Given the description of an element on the screen output the (x, y) to click on. 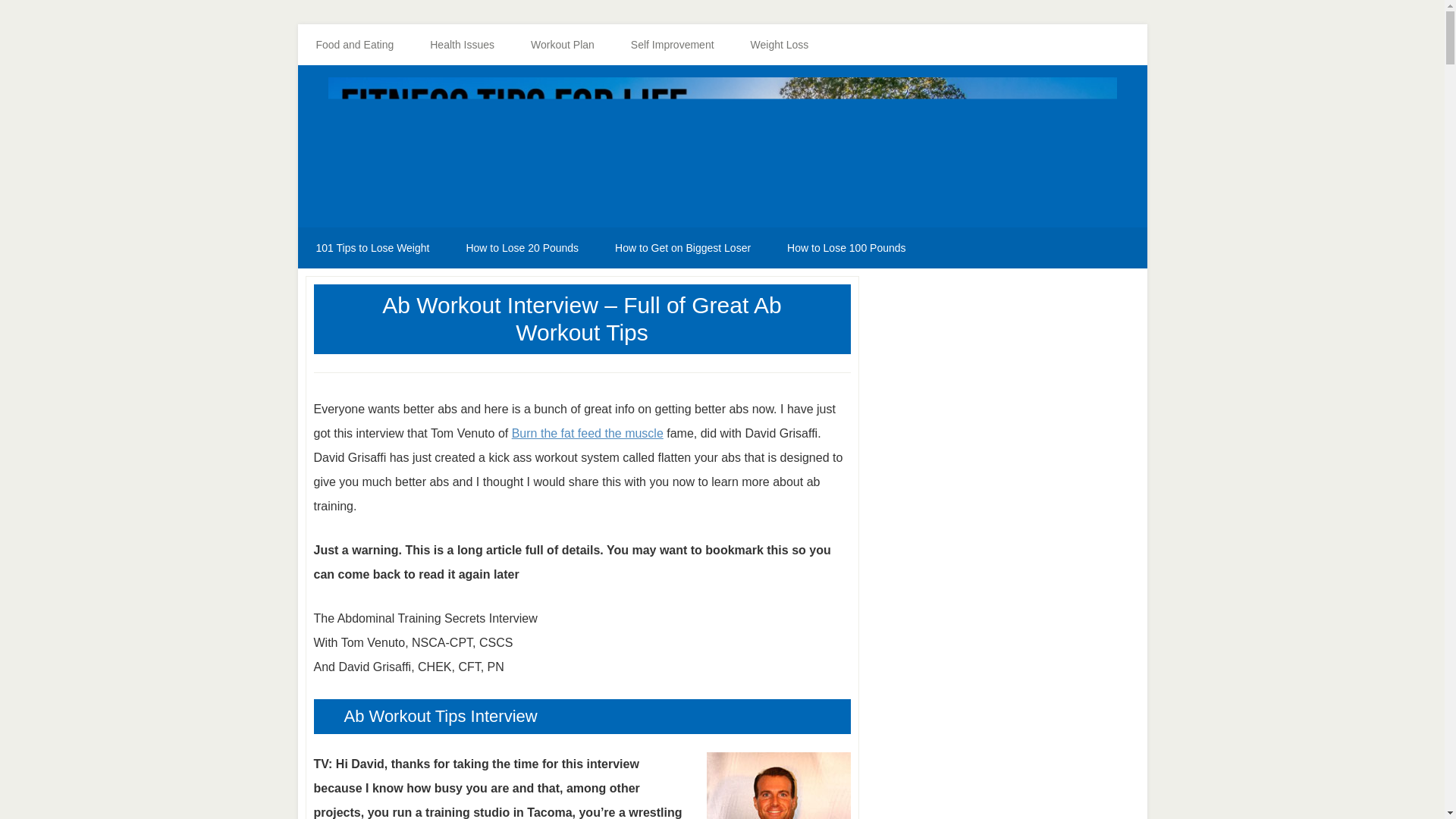
How to Get on Biggest Loser (682, 247)
Self Improvement (672, 44)
How to Lose 20 Pounds (521, 247)
Workout Plan (562, 44)
How to Lose 100 Pounds (845, 247)
Weight Loss (779, 44)
Health Issues (462, 44)
Fitness Tips for Life (721, 149)
101 Tips to Lose Weight (371, 247)
Food and Eating (354, 44)
